Given the description of an element on the screen output the (x, y) to click on. 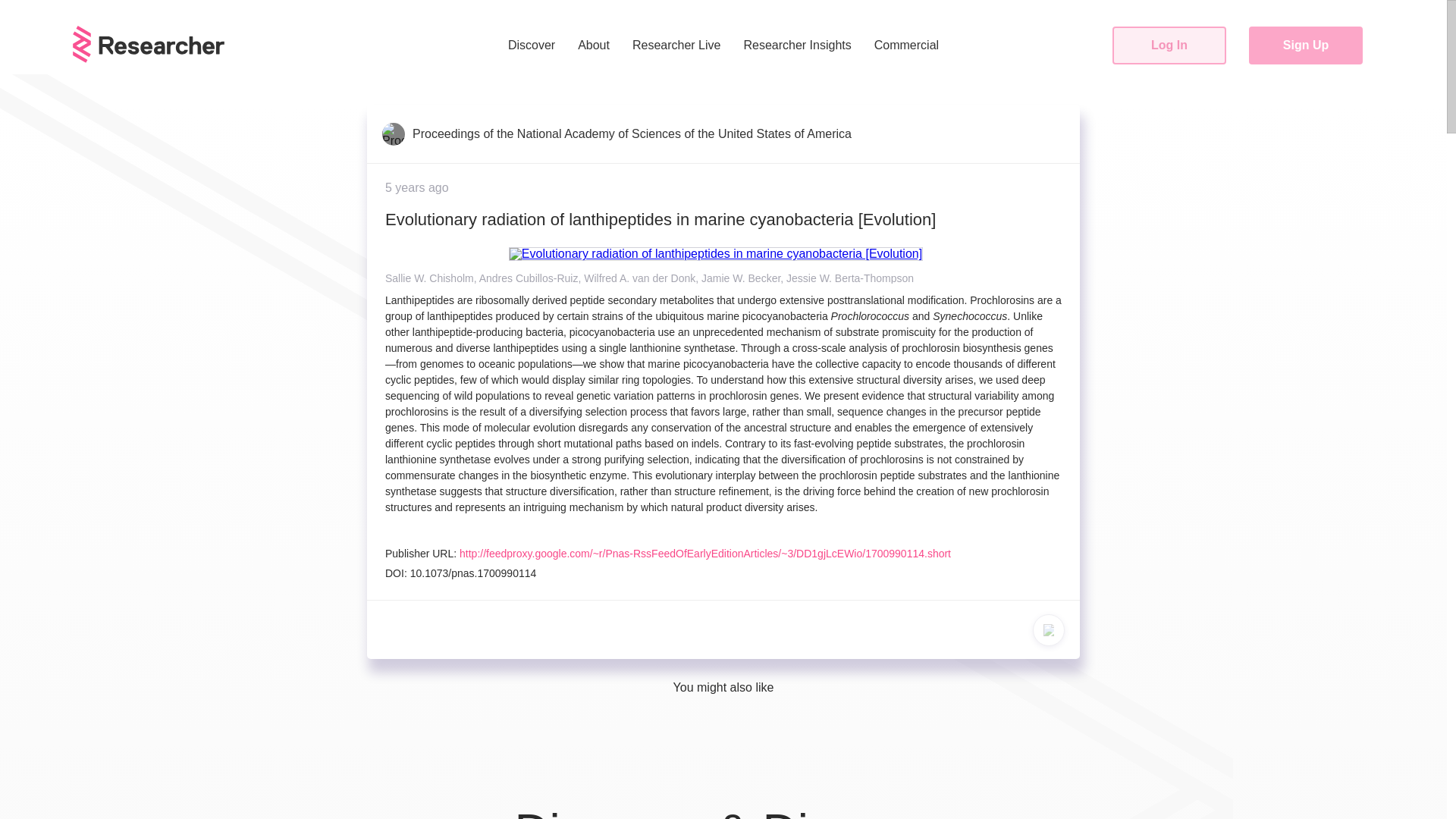
Commercial (906, 44)
Researcher Insights (797, 44)
Researcher: Home (148, 58)
Sign Up (1305, 45)
Log In (1168, 45)
Discover (531, 44)
Log In (1168, 45)
Sign Up (1305, 45)
About (593, 44)
Researcher: Home (148, 44)
